Given the description of an element on the screen output the (x, y) to click on. 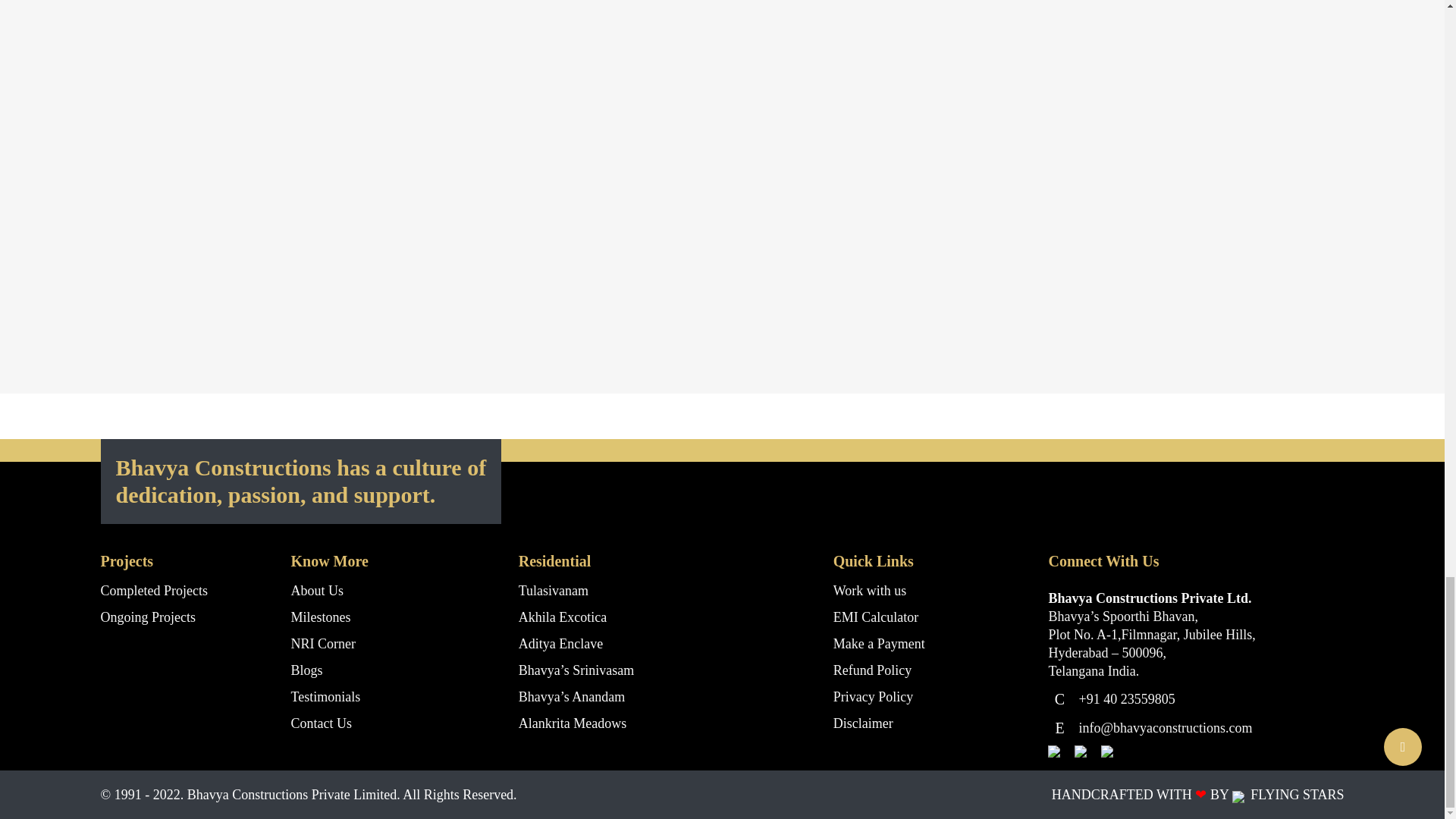
Akhila Excotica (562, 616)
Completed Projects (153, 590)
Contact Us (321, 723)
Testimonials (326, 696)
Milestones (320, 616)
Blogs (307, 670)
Ongoing Projects (147, 616)
Connect With Us (1360, 359)
About Us (317, 590)
NRI Corner (323, 643)
Tulasivanam (553, 590)
